Given the description of an element on the screen output the (x, y) to click on. 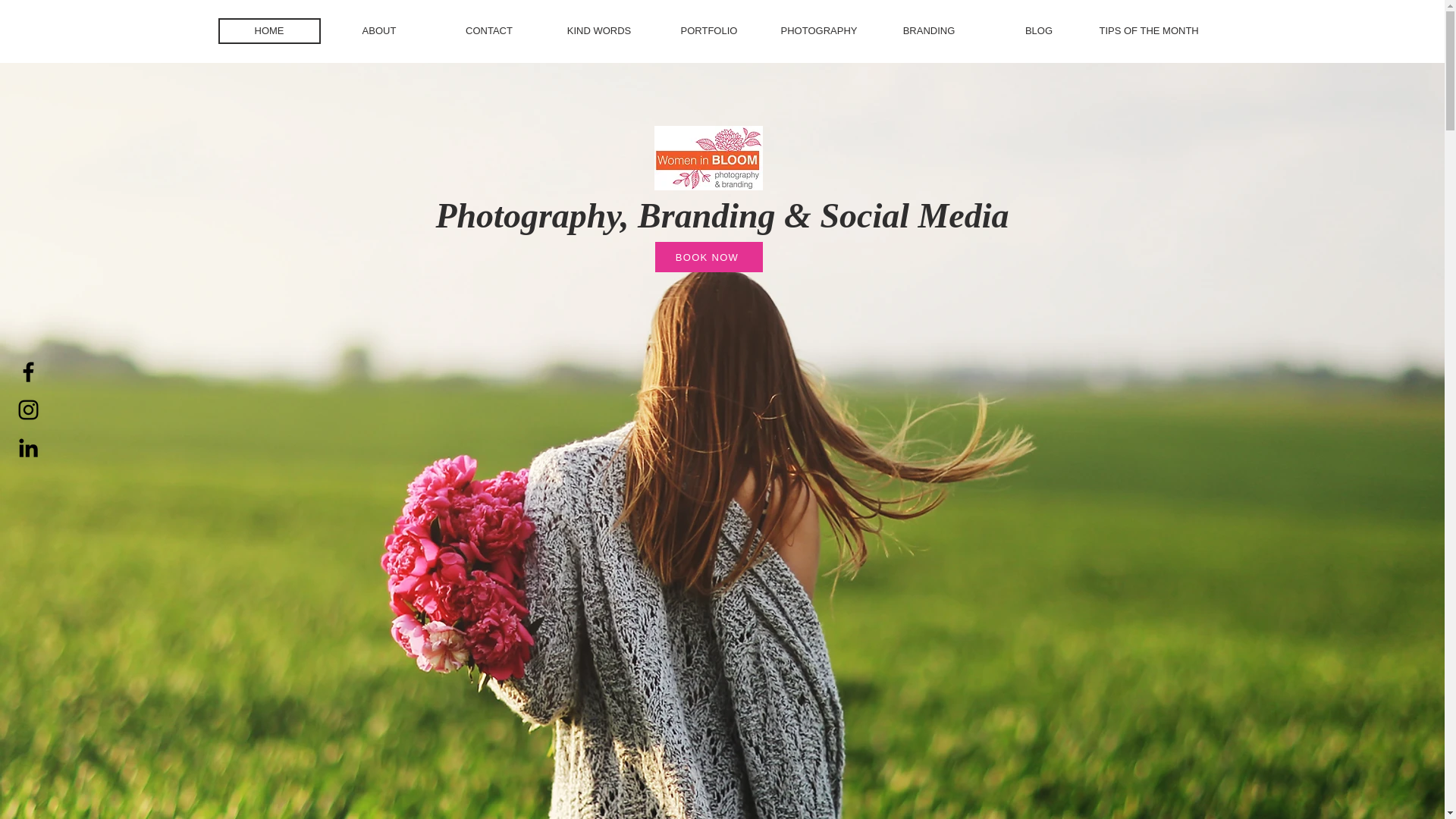
TIPS OF THE MONTH (1148, 31)
BOOK NOW (708, 256)
BLOG (1038, 31)
BRANDING (928, 31)
ABOUT (378, 31)
PHOTOGRAPHY (818, 31)
HOME (269, 31)
CONTACT (489, 31)
KIND WORDS (598, 31)
PORTFOLIO (709, 31)
